Given the description of an element on the screen output the (x, y) to click on. 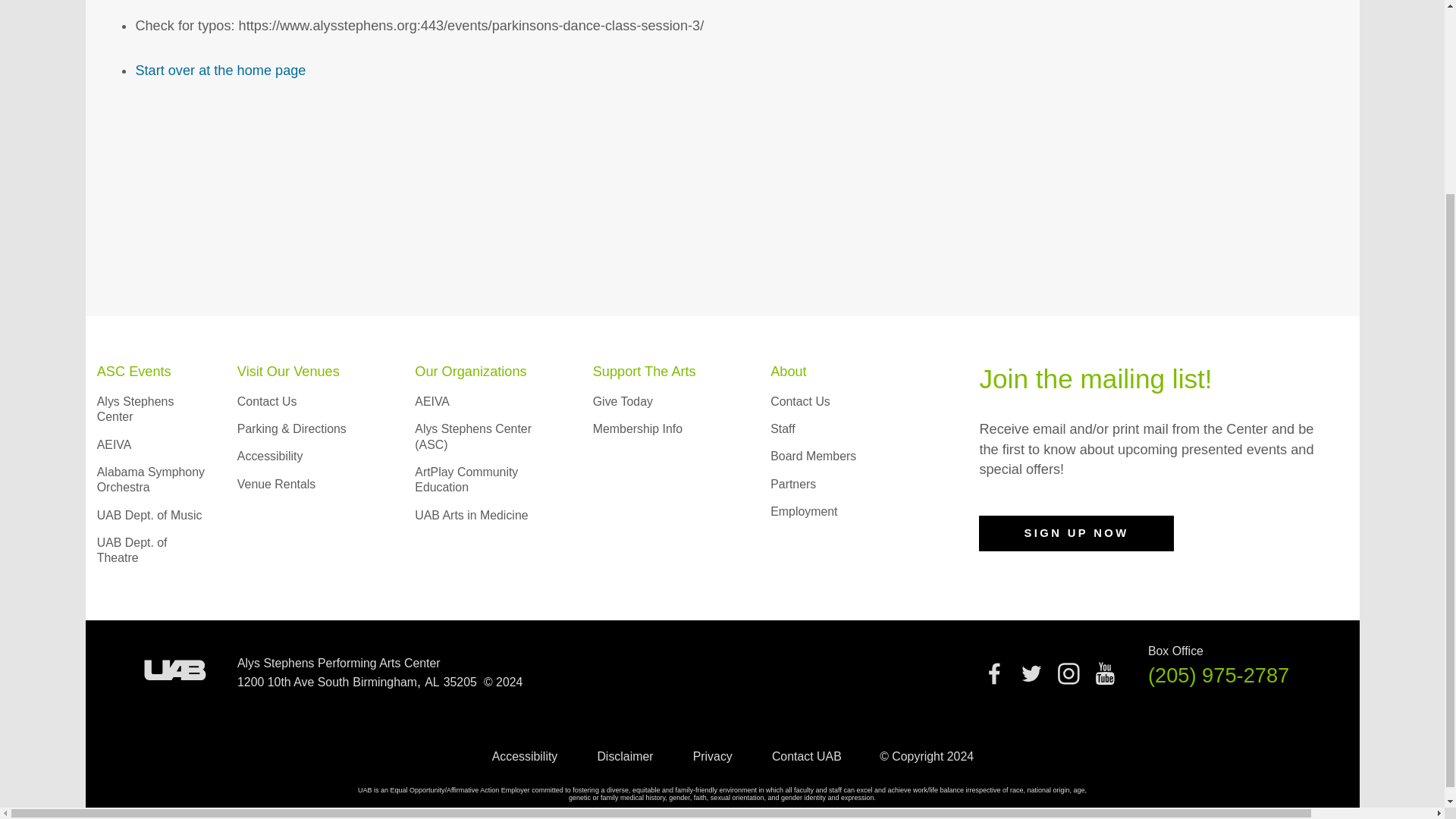
Twitter (1031, 679)
Youtube (1104, 679)
Alys Stephens Center (135, 408)
Twitter (1031, 673)
ASC Events (134, 371)
Youtube (1104, 673)
Start over at the home page (220, 70)
SIGN UP NOW (1075, 533)
Instagram (1068, 679)
Facebook (994, 673)
